Given the description of an element on the screen output the (x, y) to click on. 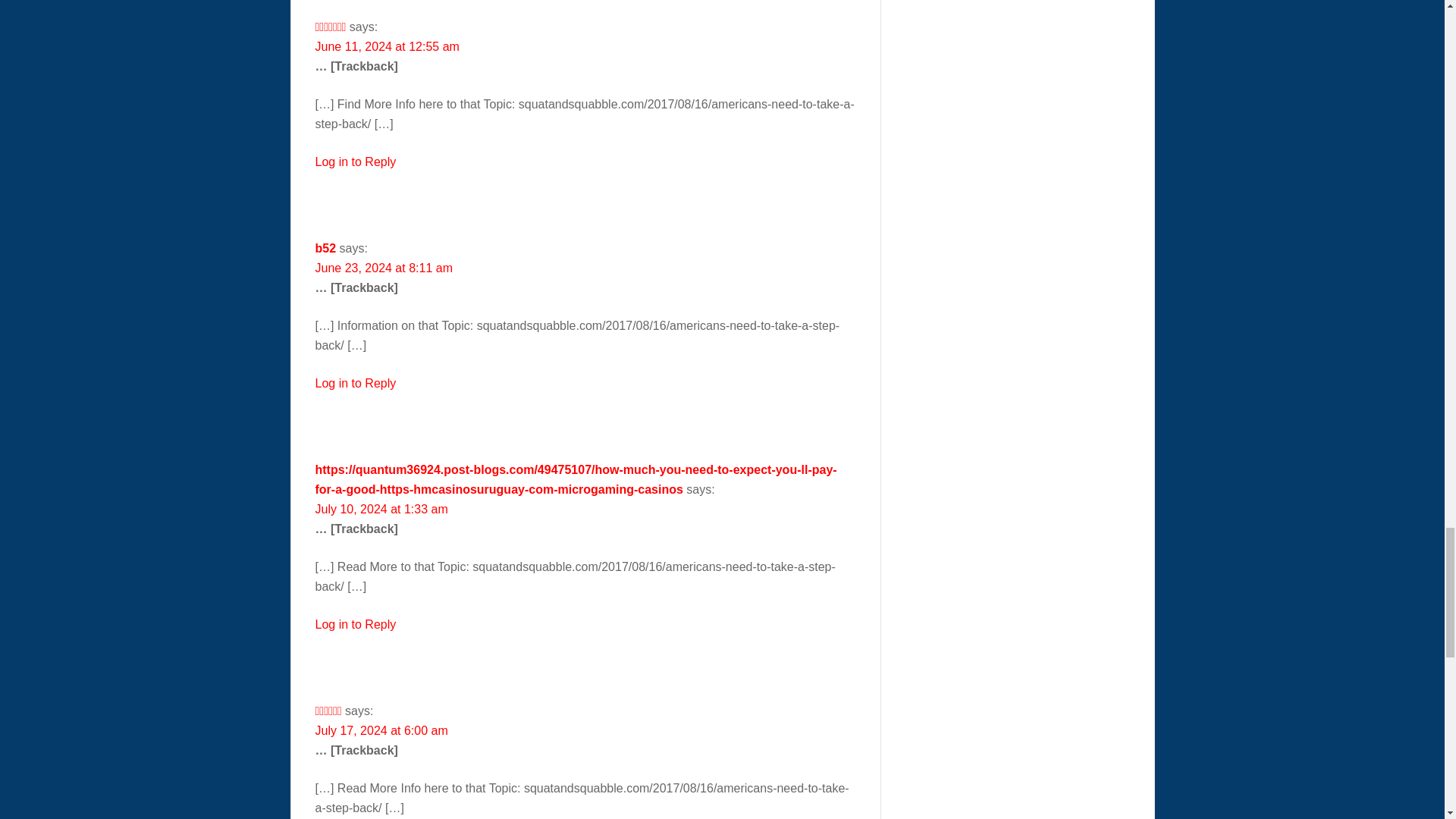
b52 (325, 247)
June 11, 2024 at 12:55 am (387, 46)
June 23, 2024 at 8:11 am (383, 267)
Log in to Reply (355, 161)
